Given the description of an element on the screen output the (x, y) to click on. 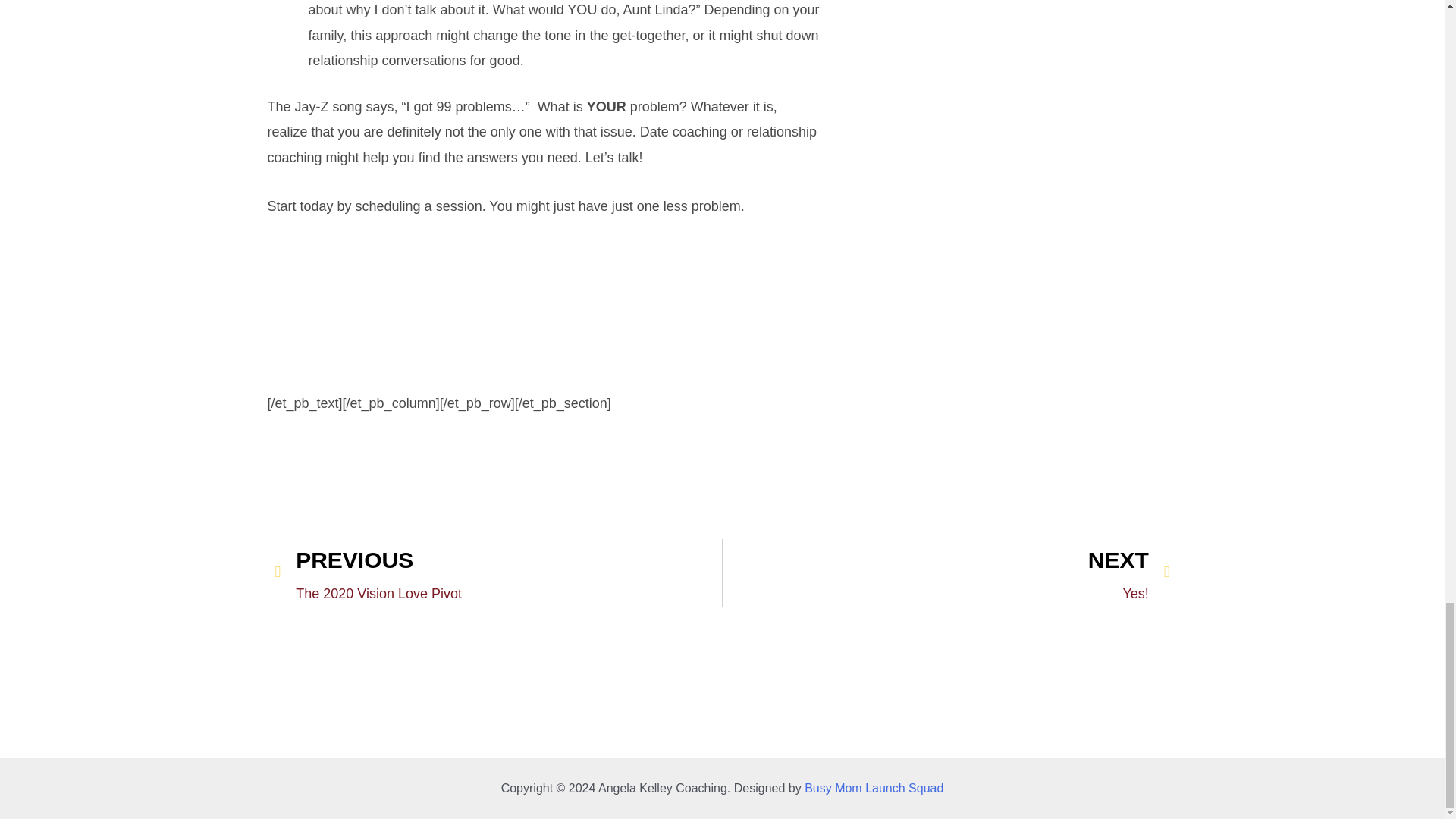
Busy Mom Launch Squad (874, 788)
